Given the description of an element on the screen output the (x, y) to click on. 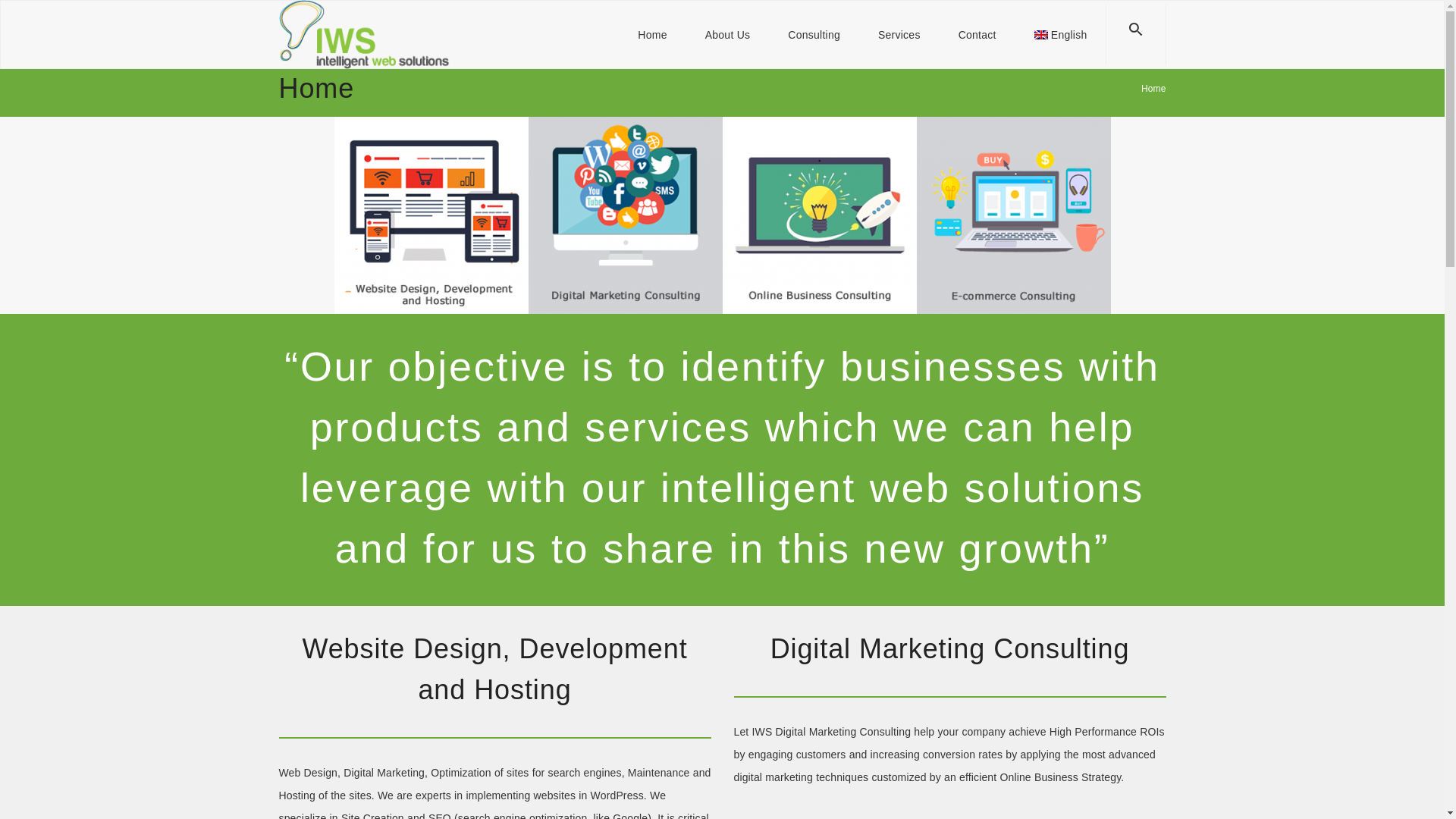
Home (651, 34)
About Us (727, 34)
Services (899, 34)
English (1050, 34)
Contact (976, 34)
English (1050, 34)
Consulting (813, 34)
